Given the description of an element on the screen output the (x, y) to click on. 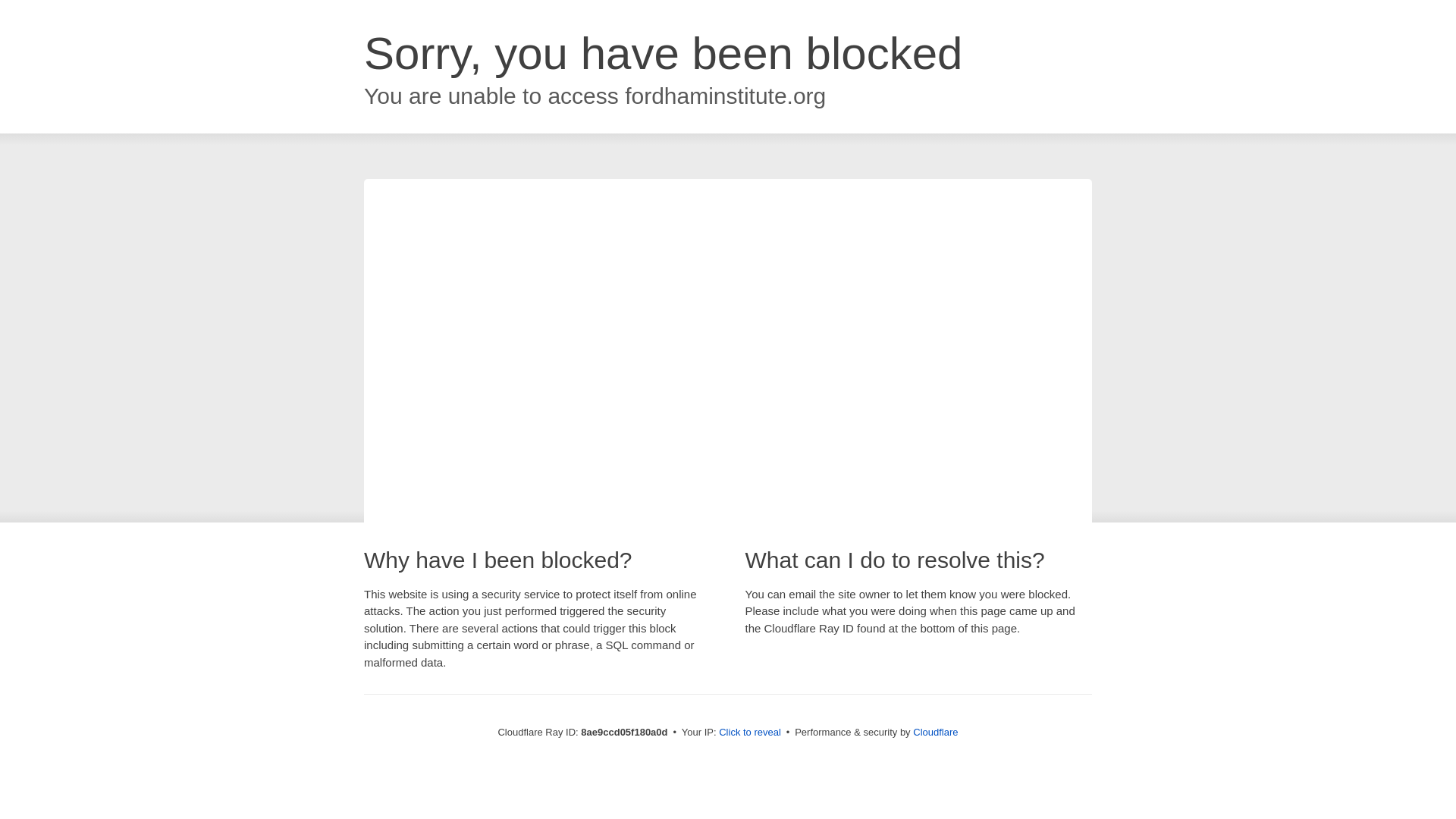
Click to reveal (749, 732)
Cloudflare (935, 731)
